Given the description of an element on the screen output the (x, y) to click on. 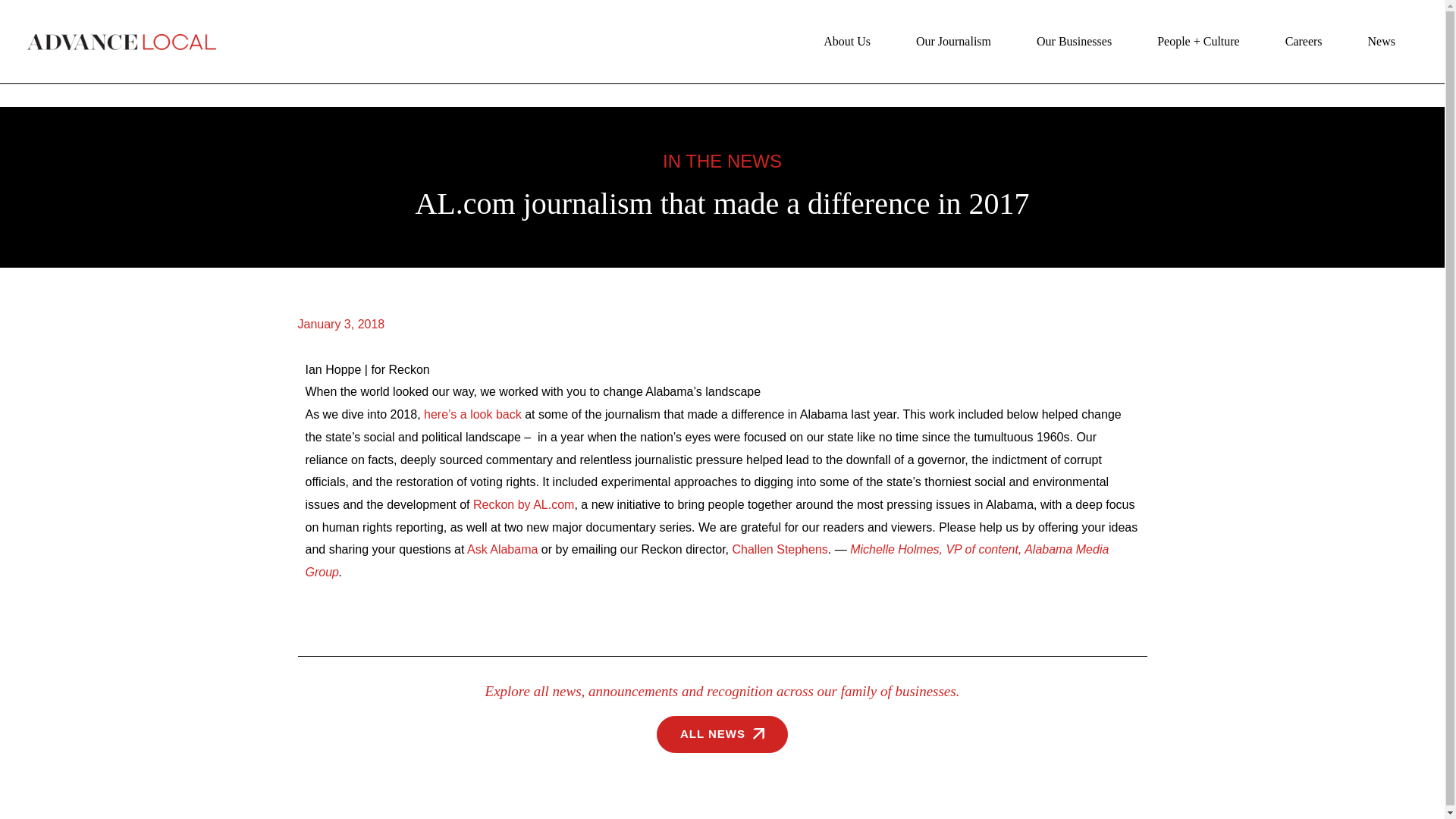
About Us (846, 41)
Michelle Holmes, VP of content, Alabama Media Group (706, 560)
Reckon by AL.com (523, 504)
Challen Stephens (780, 549)
News (1381, 41)
Ask Alabama (502, 549)
Careers (1303, 41)
Our Journalism (953, 41)
Our Businesses (1073, 41)
